Given the description of an element on the screen output the (x, y) to click on. 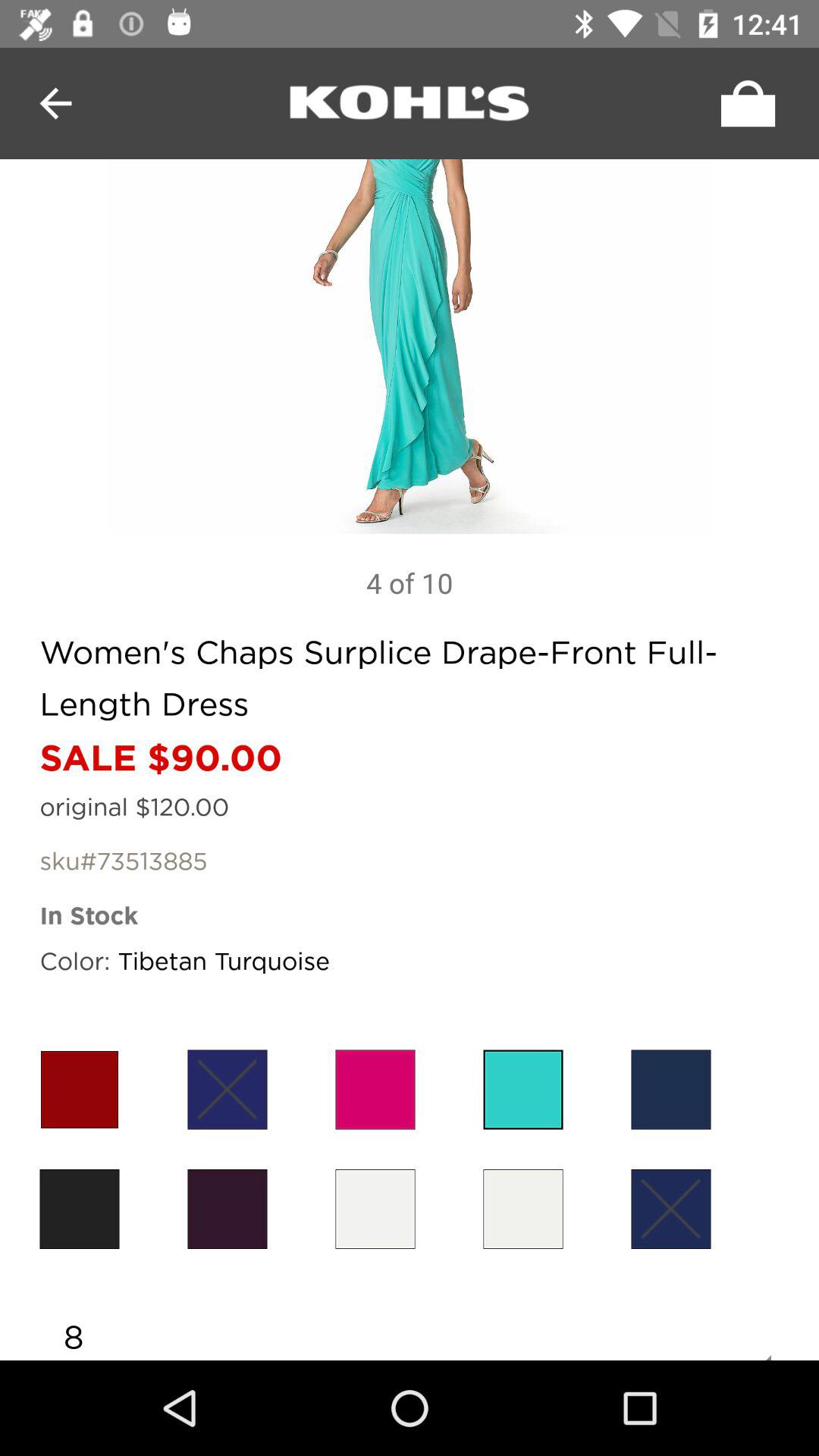
the symbol of cross (227, 1089)
